Given the description of an element on the screen output the (x, y) to click on. 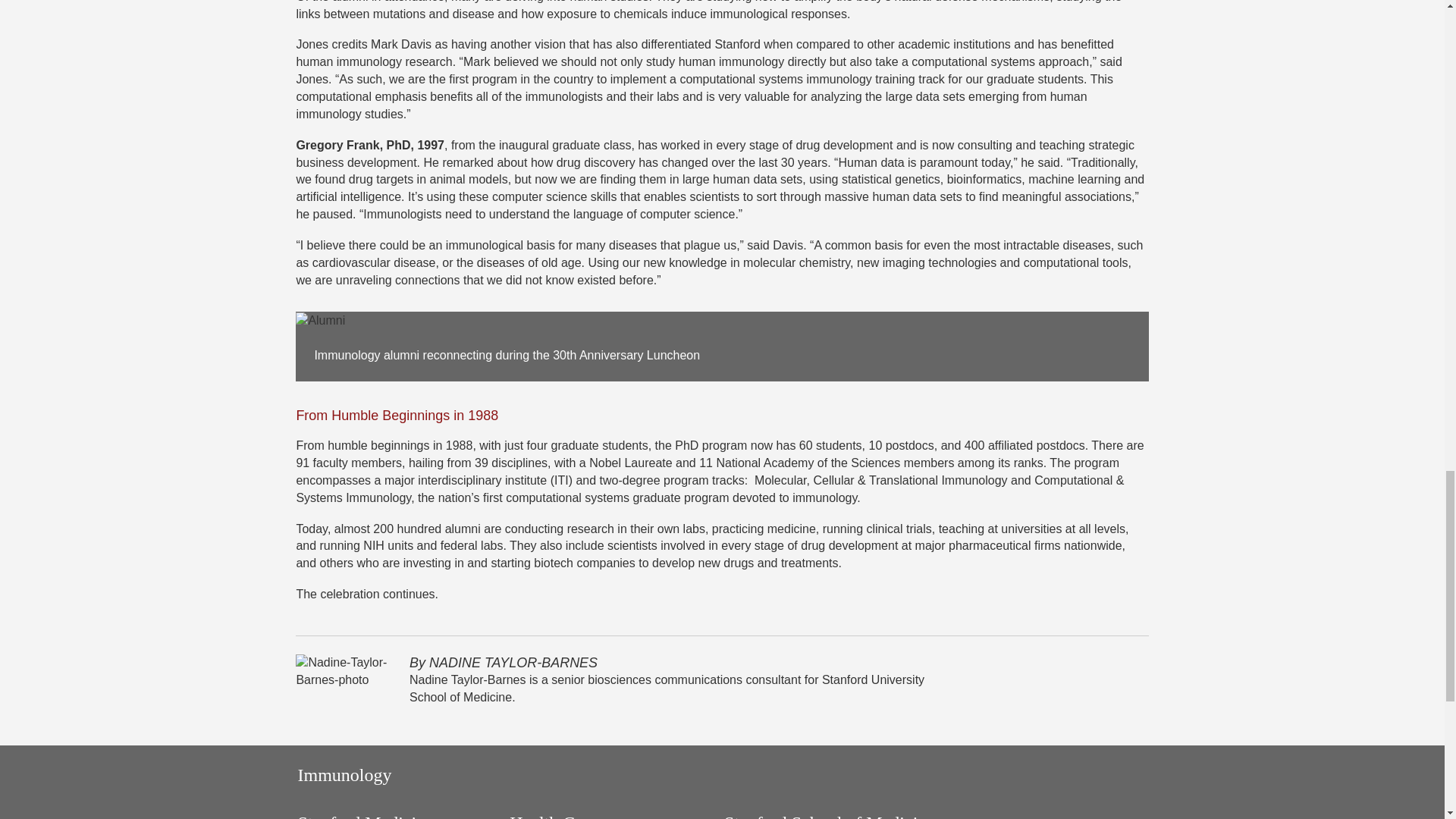
Alumni  (320, 321)
Nadine-Taylor-Barnes-photo  (343, 671)
